Given the description of an element on the screen output the (x, y) to click on. 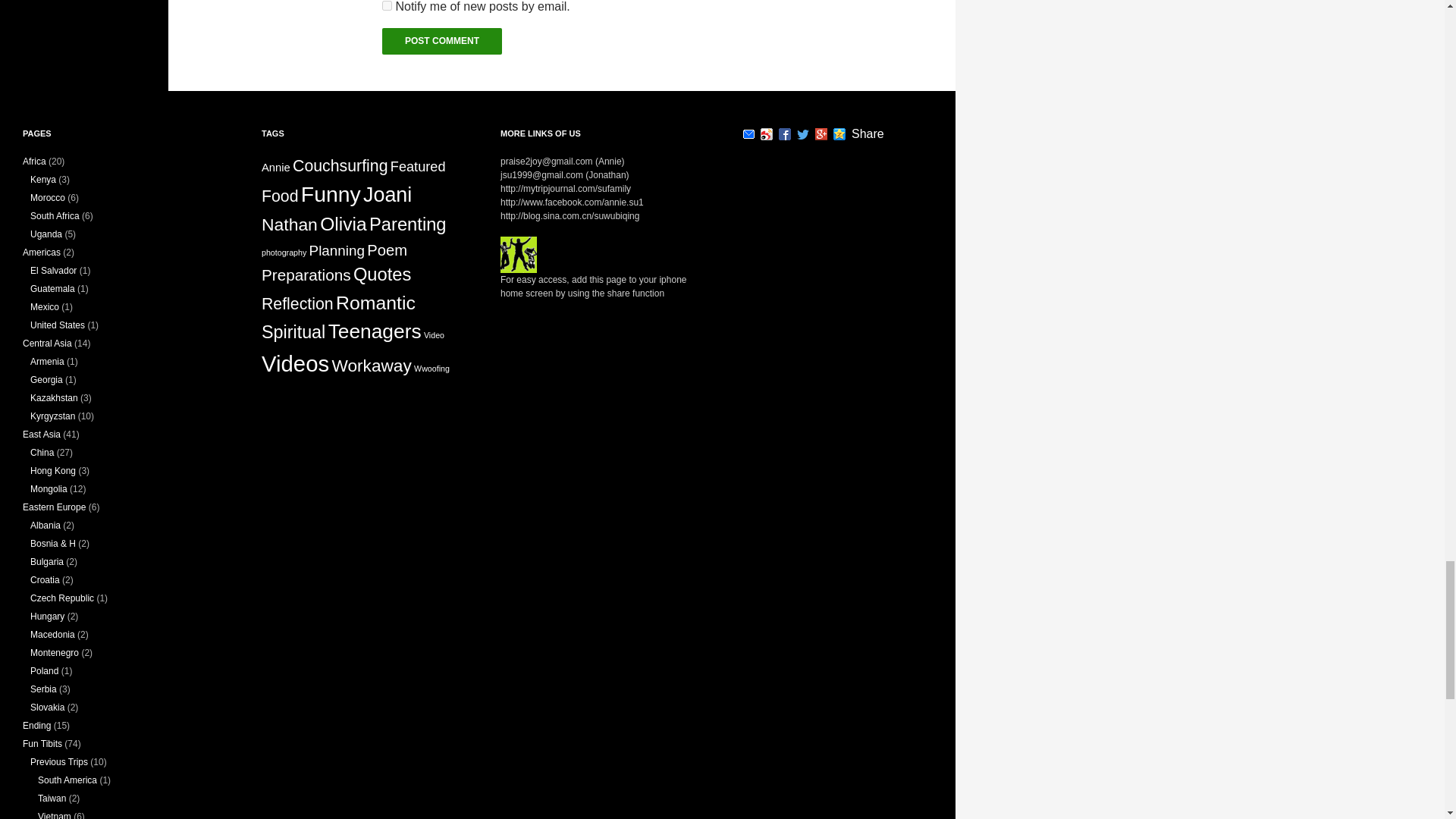
subscribe (386, 5)
Post Comment (441, 40)
